Given the description of an element on the screen output the (x, y) to click on. 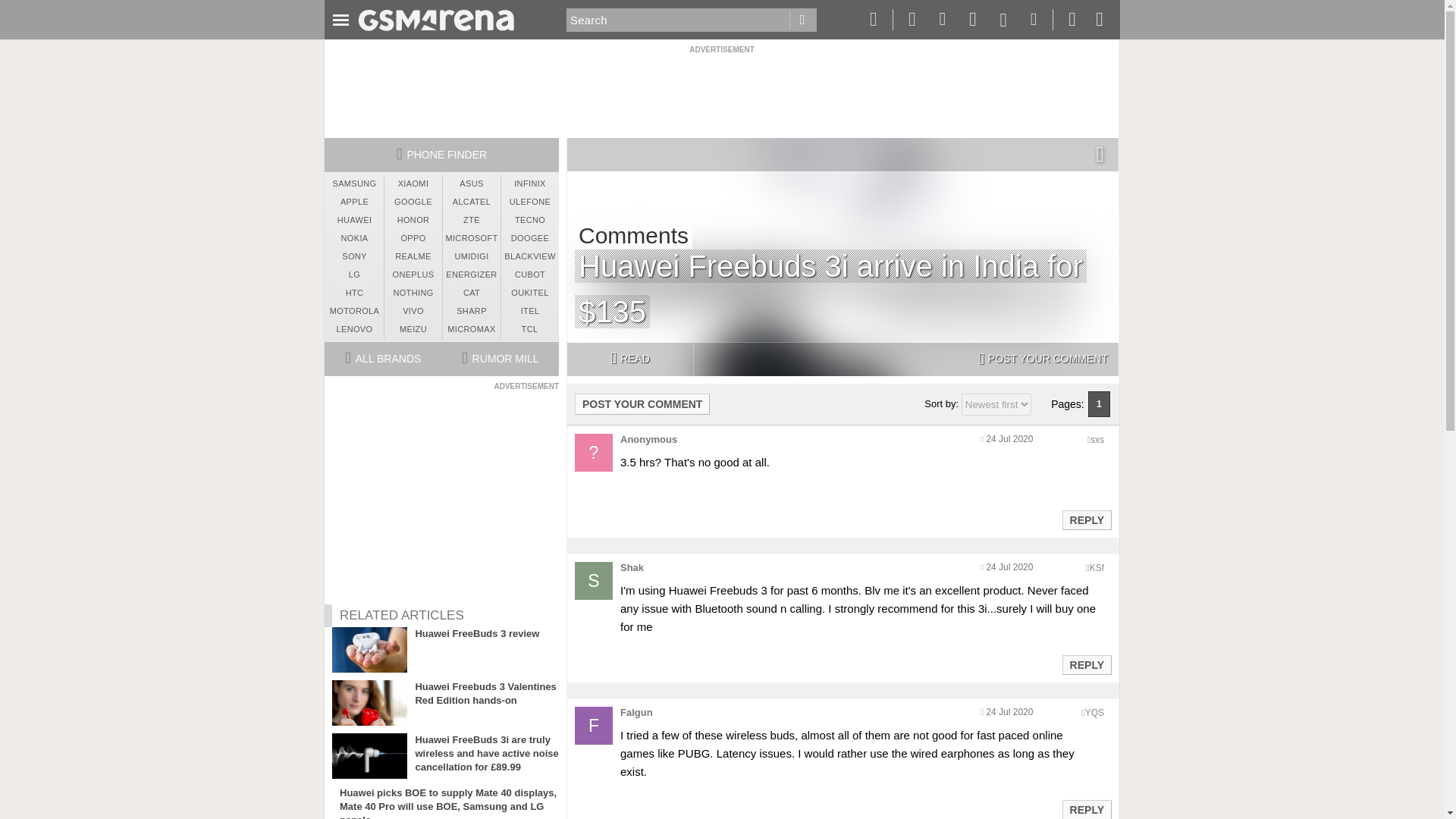
READ (630, 359)
Reply to this post (1086, 520)
REPLY (1086, 520)
Go (802, 19)
Encoded anonymized location (1093, 712)
REPLY (1086, 809)
Encoded anonymized location (1096, 567)
Reply to this post (1086, 809)
POST YOUR COMMENT (1042, 359)
POST YOUR COMMENT (642, 403)
